Given the description of an element on the screen output the (x, y) to click on. 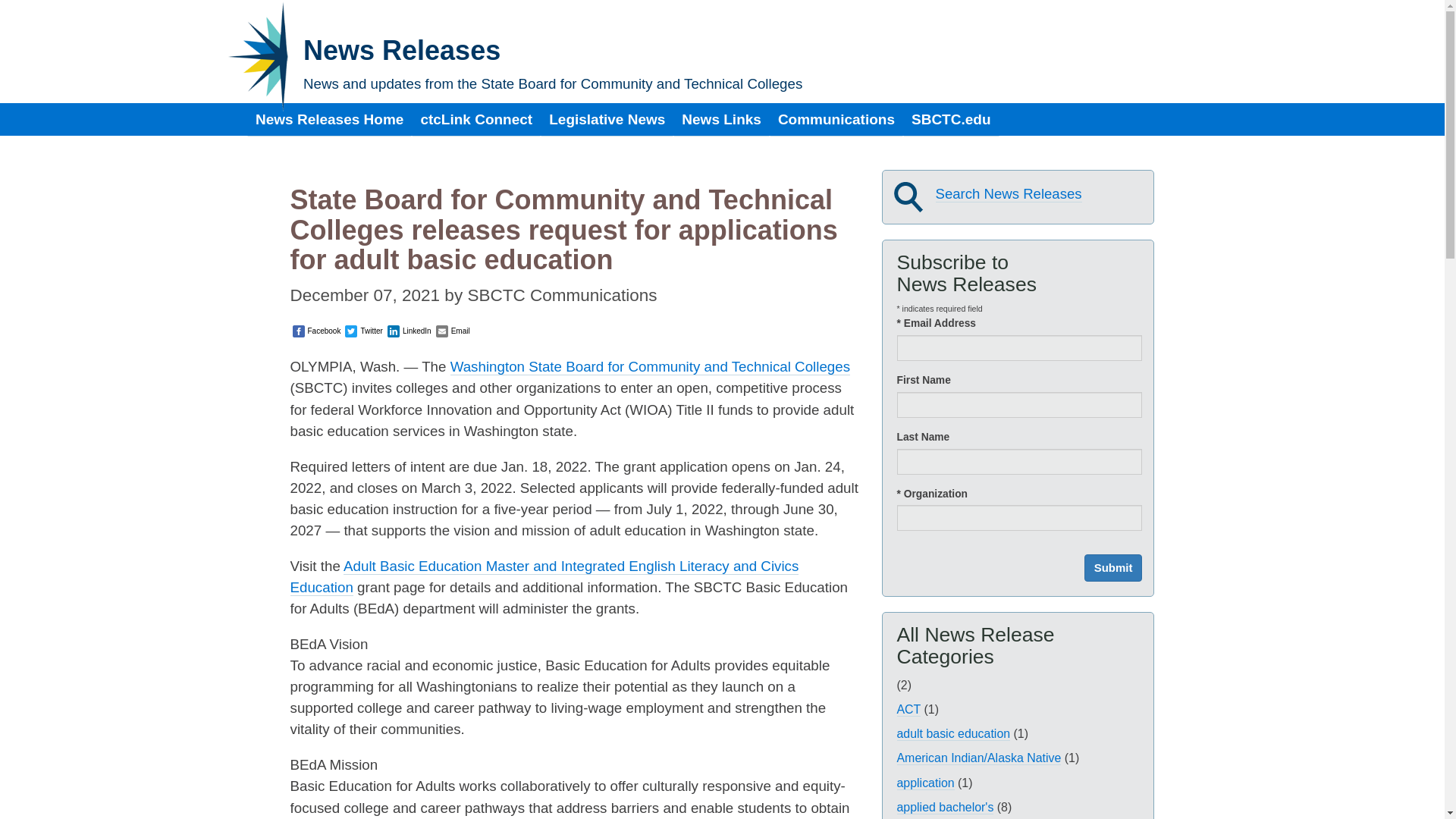
Legislative News (606, 119)
Communications (836, 119)
ACT (908, 709)
adult basic education (953, 734)
SBCTC.edu (950, 119)
News Links (721, 119)
applied bachelor's (944, 807)
Washington State Board for Community and Technical Colleges (649, 366)
Submit (1113, 567)
